Given the description of an element on the screen output the (x, y) to click on. 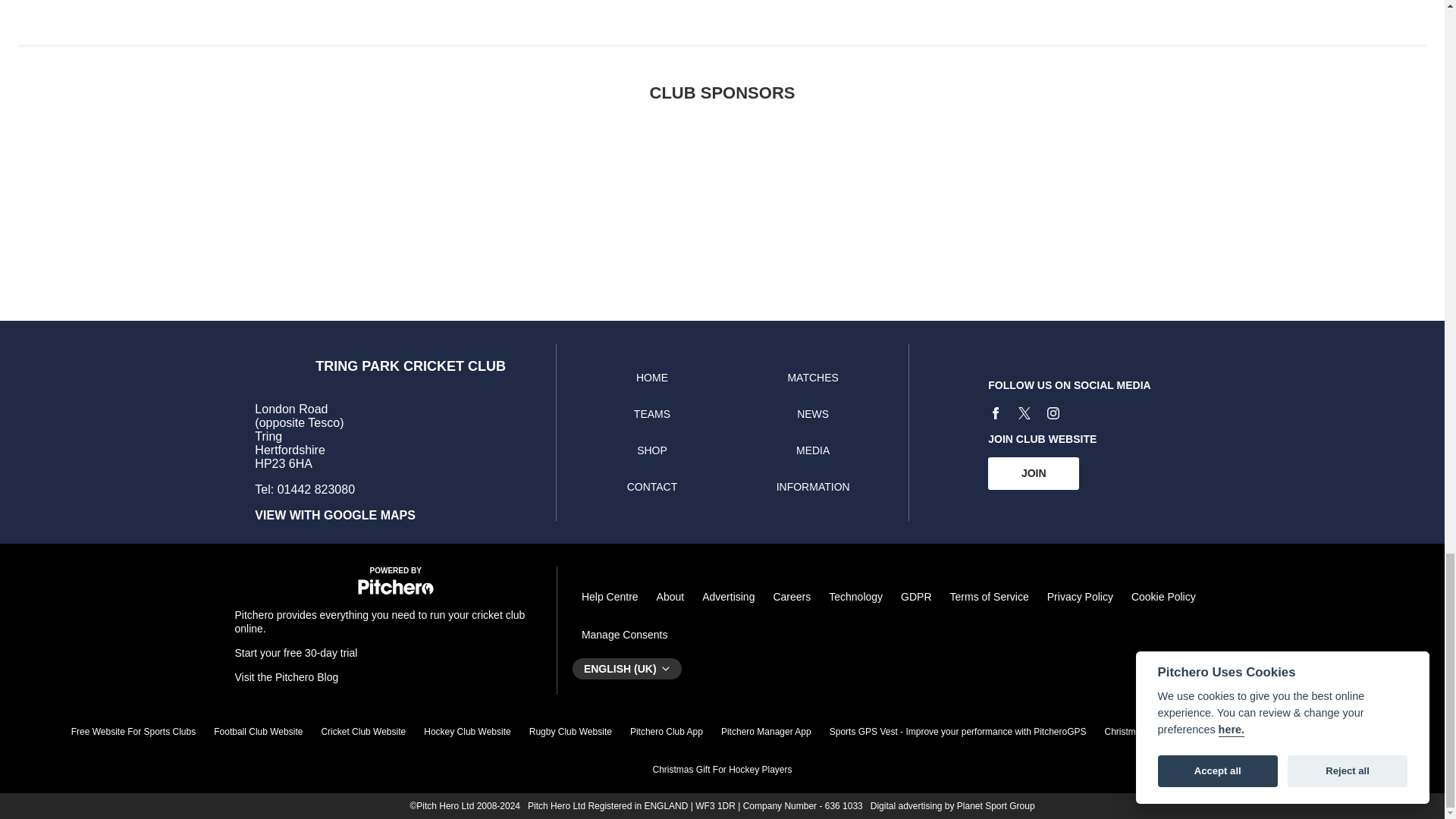
Pitchero (395, 590)
Website Sponsor - Specialist Cars (406, 193)
Club Sponsor - Tring Brewery (563, 193)
Proud to be a Clubmark Club - ECB (1036, 193)
Club Sponsor - Dayla  (879, 193)
Club Sponsor - Silverspade Landscapes (1194, 193)
